Given the description of an element on the screen output the (x, y) to click on. 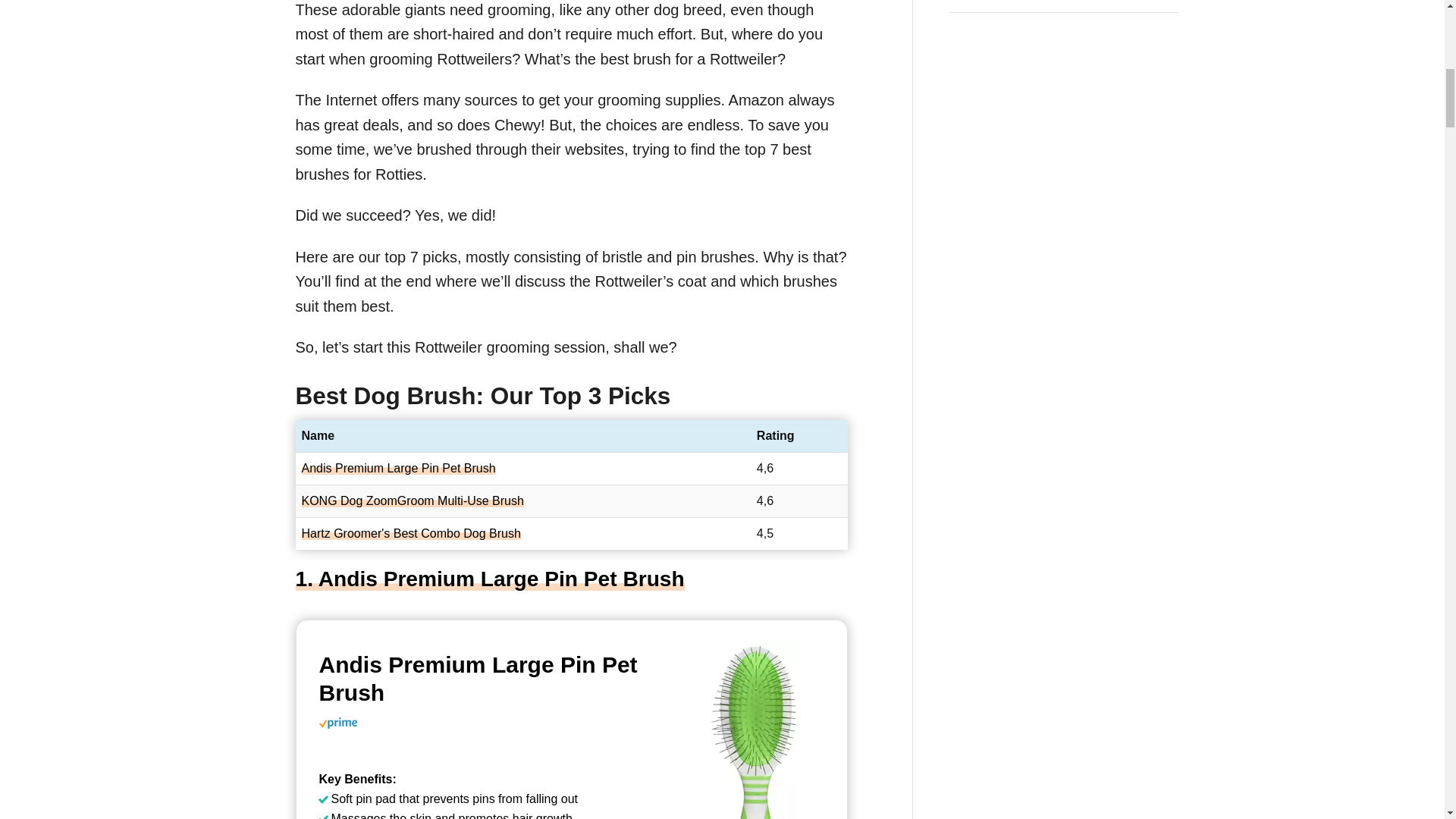
Andis Premium Large Pin Pet Brush (489, 678)
Andis Premium Large Pin Pet Brush (489, 678)
1. Andis Premium Large Pin Pet Brush (489, 578)
KONG Dog ZoomGroom Multi-Use Brush (412, 500)
Hartz Groomer's Best Combo Dog Brush (411, 533)
Andis Premium Large Pin Pet Brush (398, 468)
